Given the description of an element on the screen output the (x, y) to click on. 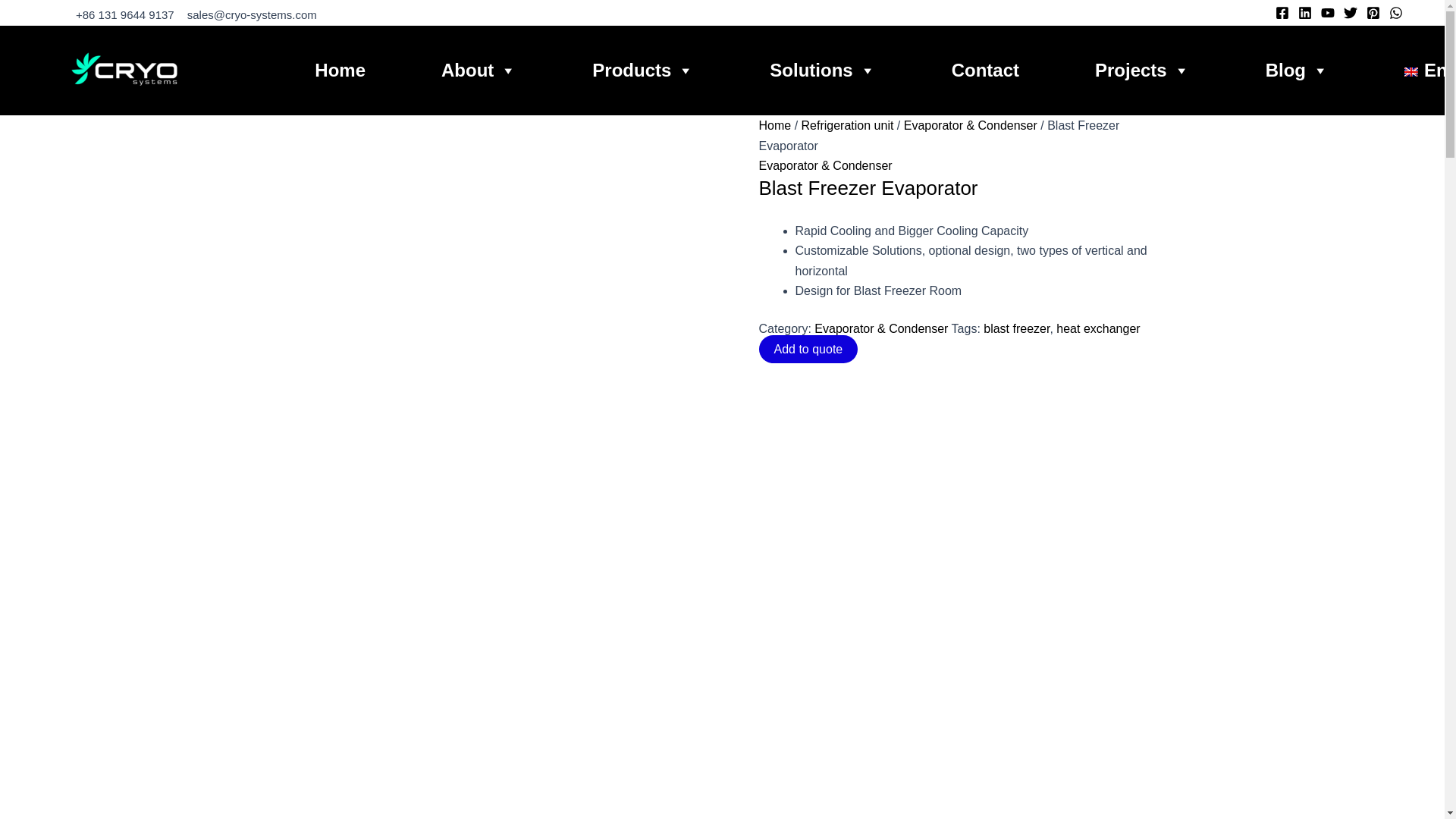
Solutions (822, 70)
English (1430, 70)
Home (339, 70)
About (478, 70)
Products (643, 70)
